Given the description of an element on the screen output the (x, y) to click on. 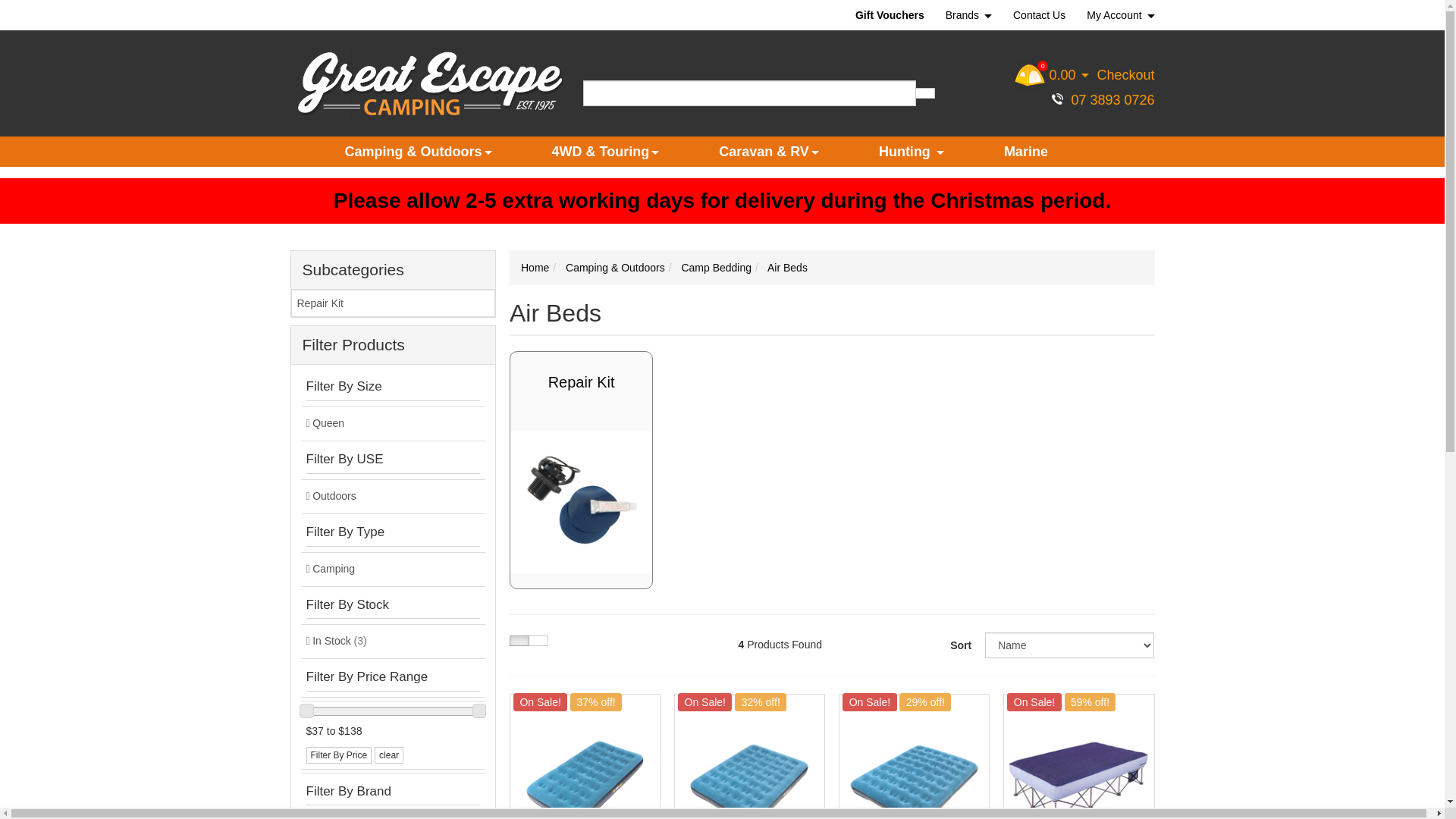
Subcategories Element type: text (392, 269)
Filter By Price Element type: text (339, 754)
0
0.00 Element type: text (1053, 74)
Great Escape Camping Element type: hover (428, 84)
Search Element type: text (925, 92)
Air Beds Element type: text (787, 267)
  07 3893 0726 Element type: text (1099, 99)
Camp Bedding Element type: text (715, 267)
Camping & Outdoors Element type: text (418, 151)
Marine Element type: text (1025, 151)
Caravan & RV Element type: text (768, 151)
Outdoors Element type: text (392, 496)
Checkout Element type: text (1123, 74)
Contact Us Element type: text (1039, 15)
Gift Vouchers Element type: text (895, 15)
4WD & Touring Element type: text (605, 151)
Hunting Element type: text (911, 151)
Queen Element type: text (392, 423)
Home Element type: text (534, 267)
Filter Products Element type: text (392, 344)
Repair Kit Element type: text (393, 302)
Repair Kit Element type: text (581, 381)
clear Element type: text (388, 754)
My Account Element type: text (1115, 15)
Camping Element type: text (392, 568)
In Stock (3) Element type: text (392, 640)
Camping & Outdoors Element type: text (615, 267)
Brands Element type: text (968, 15)
